Given the description of an element on the screen output the (x, y) to click on. 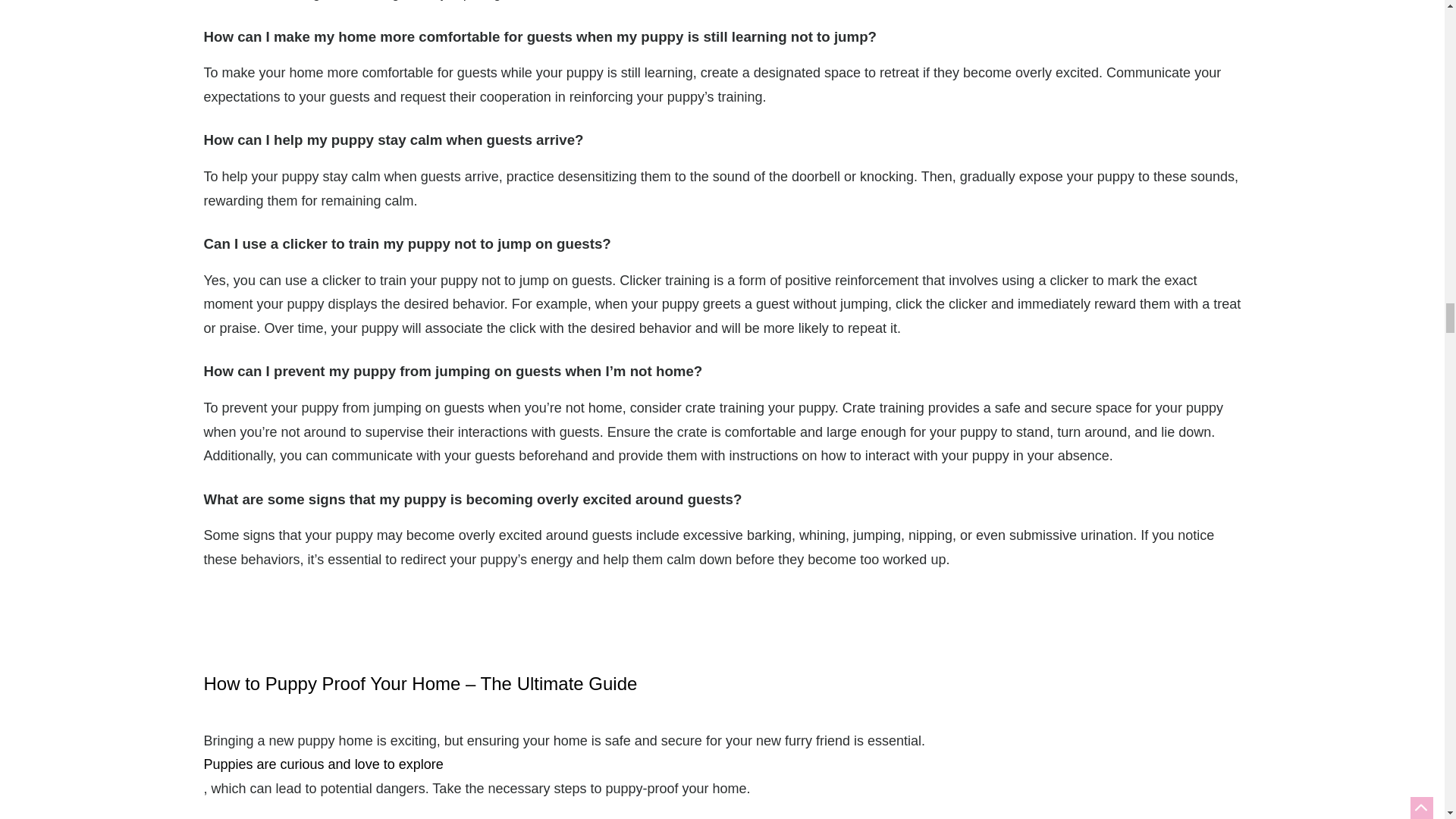
Puppies are curious and love to explore (721, 764)
